Given the description of an element on the screen output the (x, y) to click on. 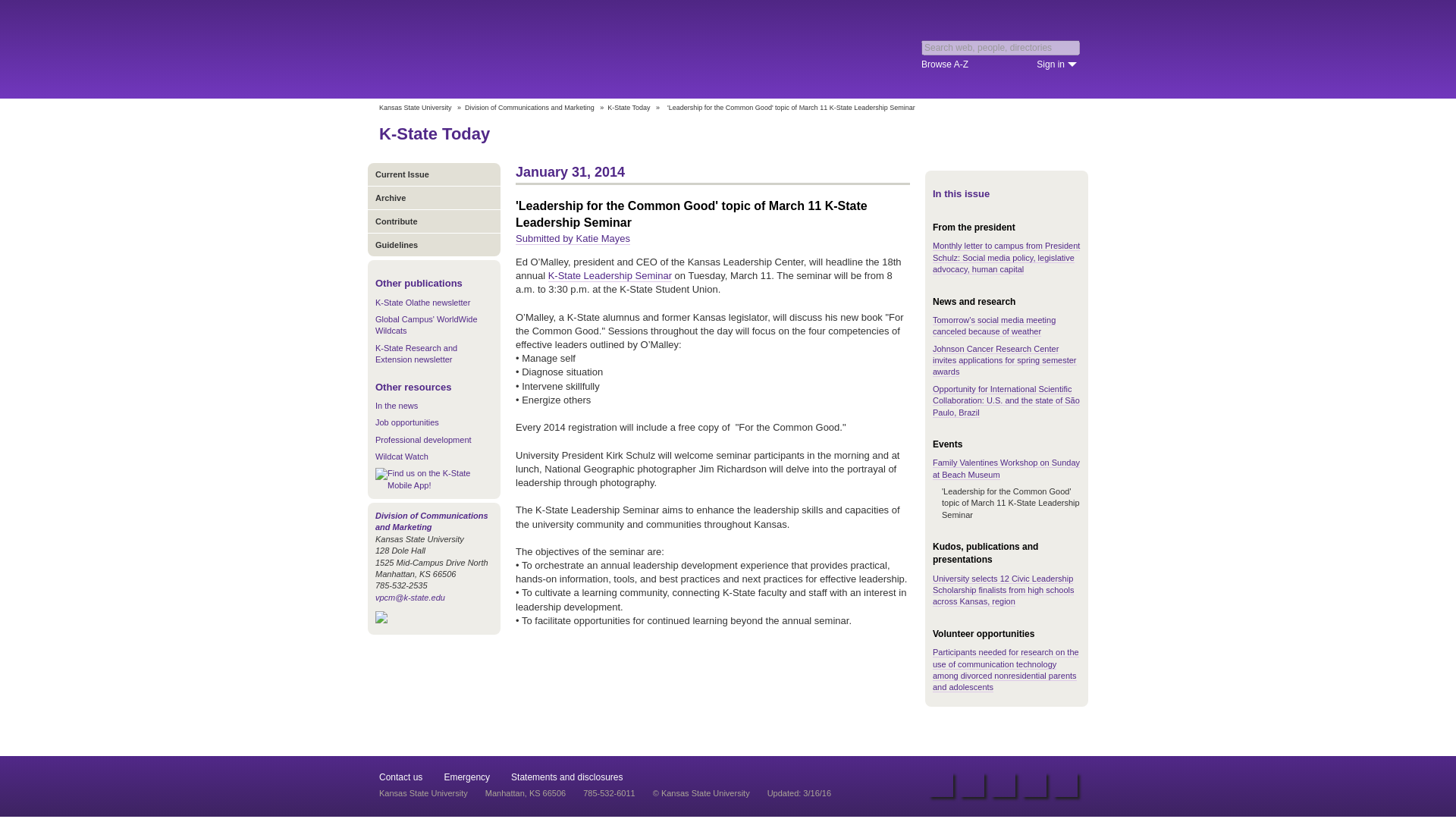
Search web, people, directories (1000, 47)
Archive (434, 197)
Facebook (940, 784)
Division of Communications and Marketing (529, 107)
Wildcat Watch (401, 456)
Google Plus (1064, 784)
Guidelines (434, 244)
Submitted by Katie Mayes (572, 238)
